Given the description of an element on the screen output the (x, y) to click on. 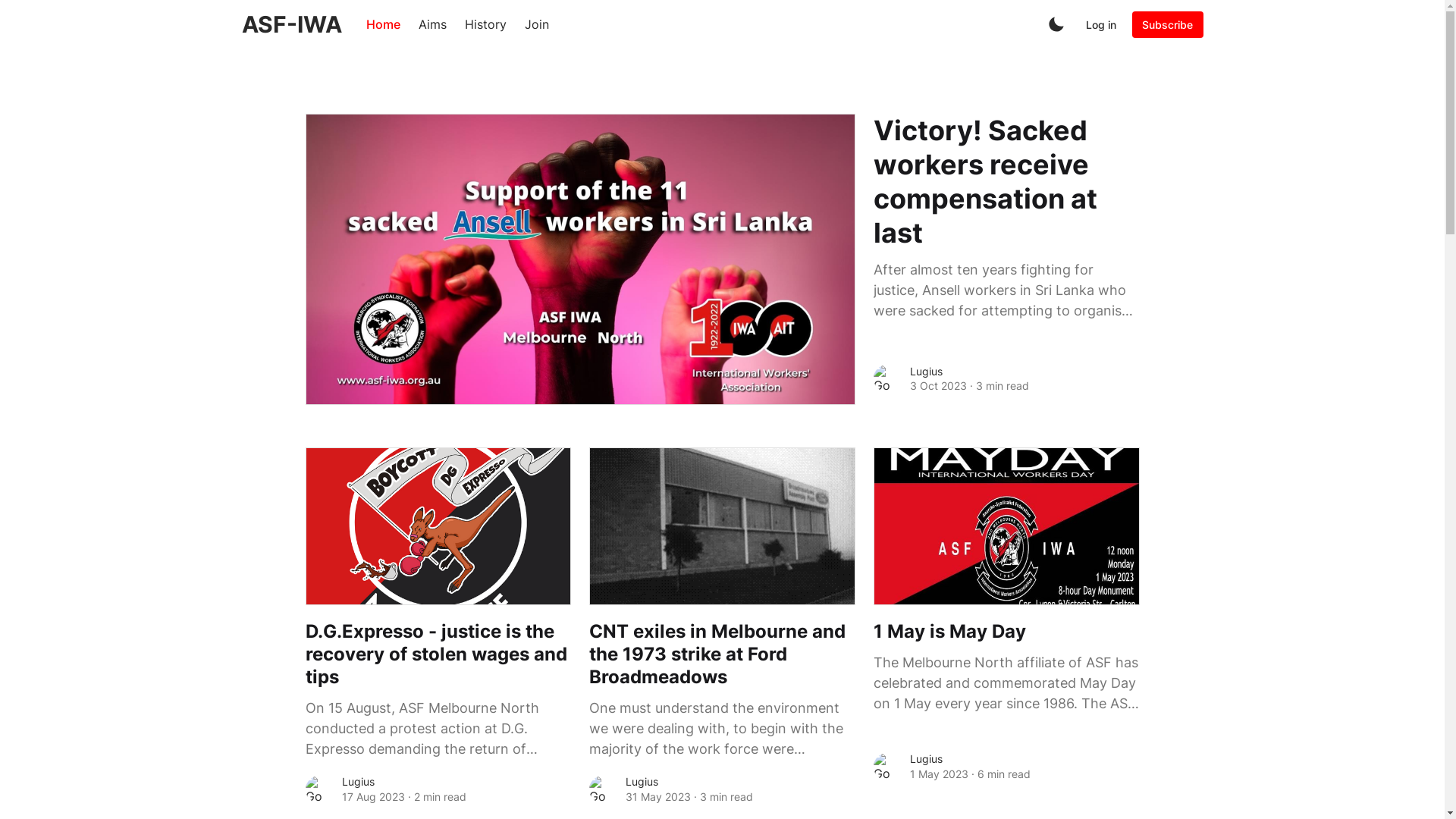
Lugius Element type: text (926, 758)
1 May is May Day Element type: text (1006, 631)
Go to the profile of Lugius Element type: hover (886, 766)
Subscribe Element type: text (1167, 23)
Log in Element type: text (1100, 23)
Victory! Sacked workers receive compensation at last Element type: text (1006, 181)
Join Element type: text (536, 24)
Aims Element type: text (432, 24)
History Element type: text (484, 24)
Go to the profile of Lugius Element type: hover (318, 789)
Home Element type: text (382, 24)
Lugius Element type: text (926, 370)
ASF-IWA Element type: text (291, 23)
Lugius Element type: text (641, 781)
Lugius Element type: text (357, 781)
Go to the profile of Lugius Element type: hover (886, 378)
Go to the profile of Lugius Element type: hover (602, 789)
